Given the description of an element on the screen output the (x, y) to click on. 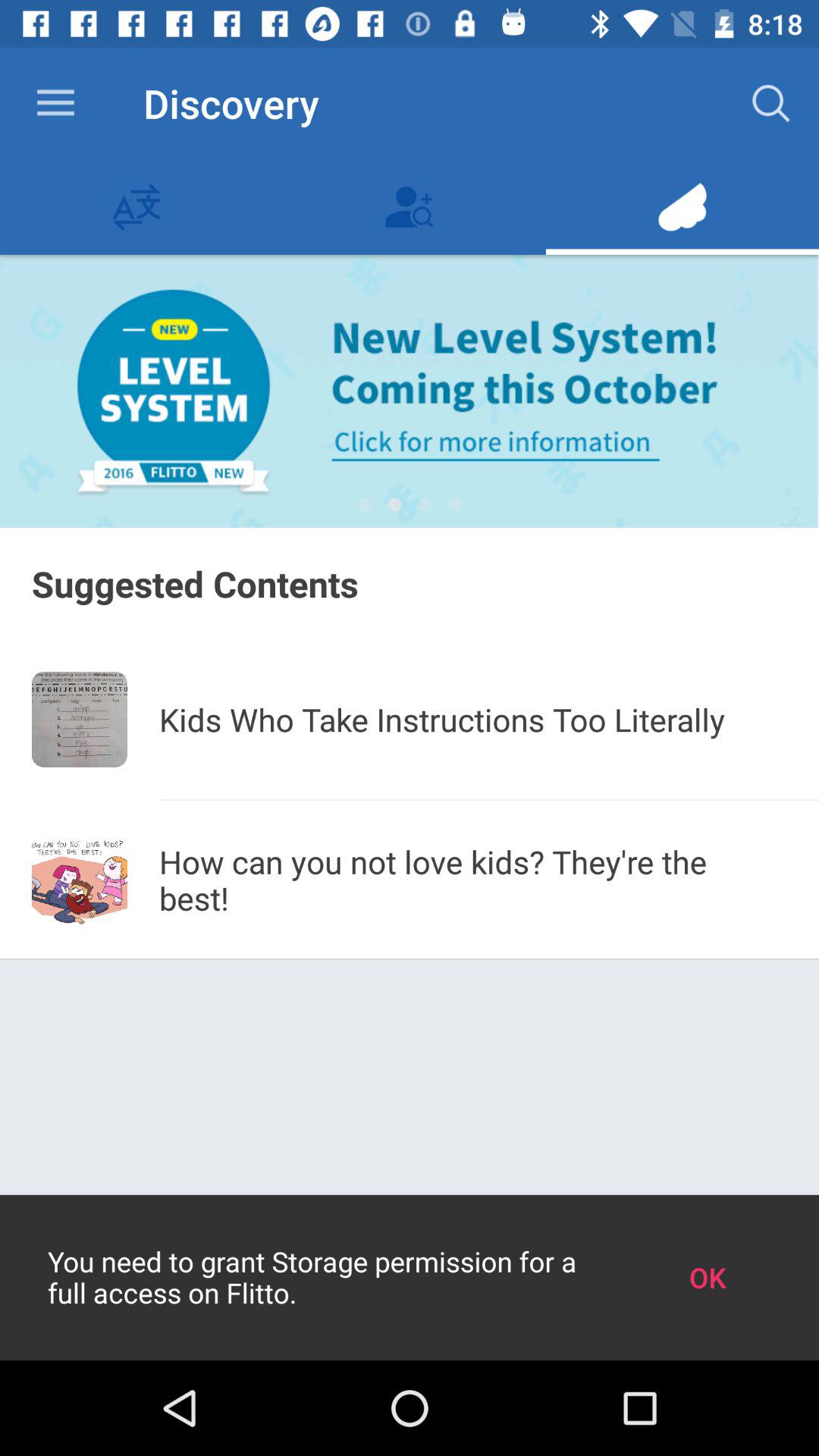
tap icon above suggested contents icon (394, 504)
